Given the description of an element on the screen output the (x, y) to click on. 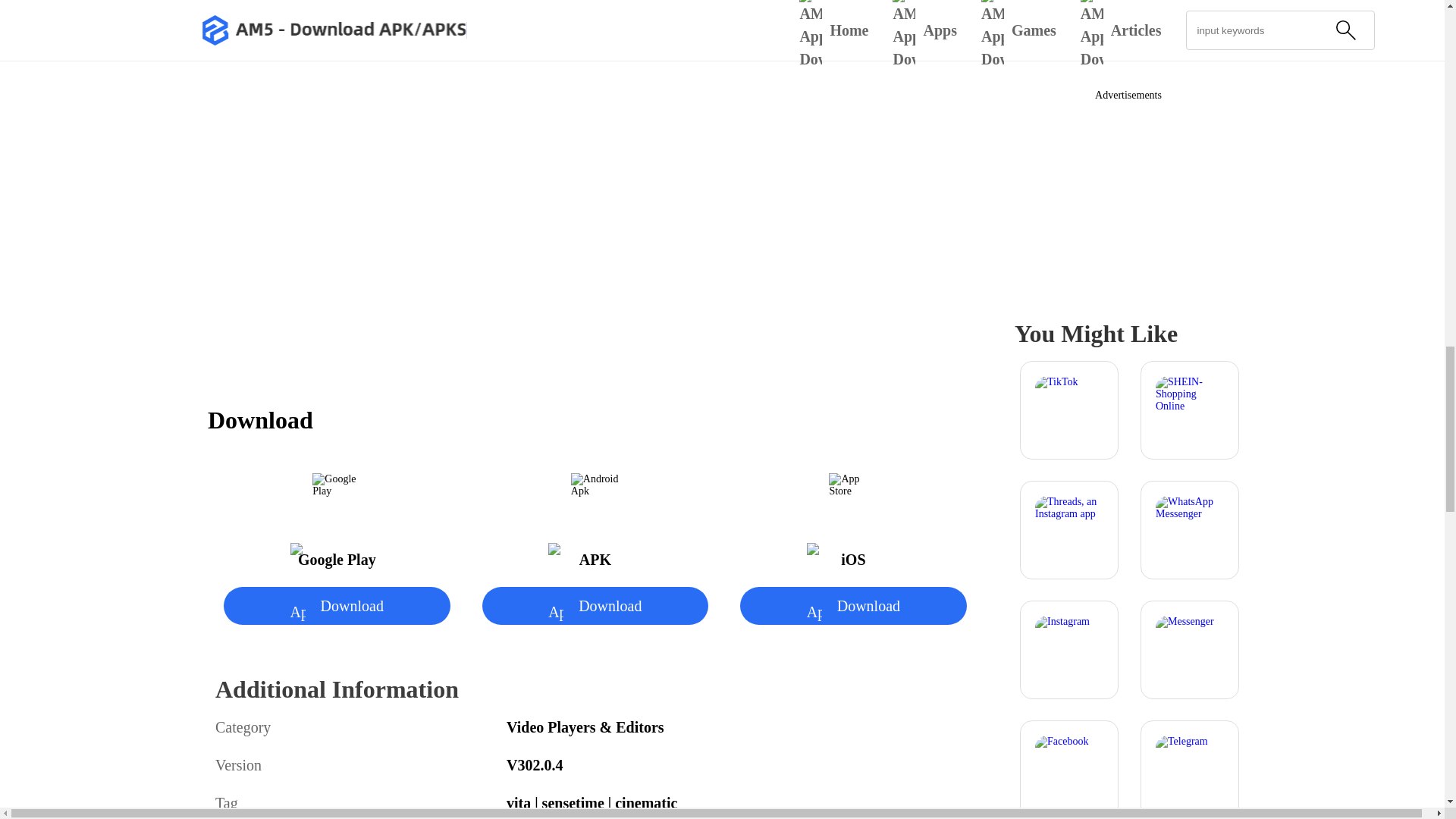
Download (852, 605)
Download (595, 605)
Download (336, 605)
